Given the description of an element on the screen output the (x, y) to click on. 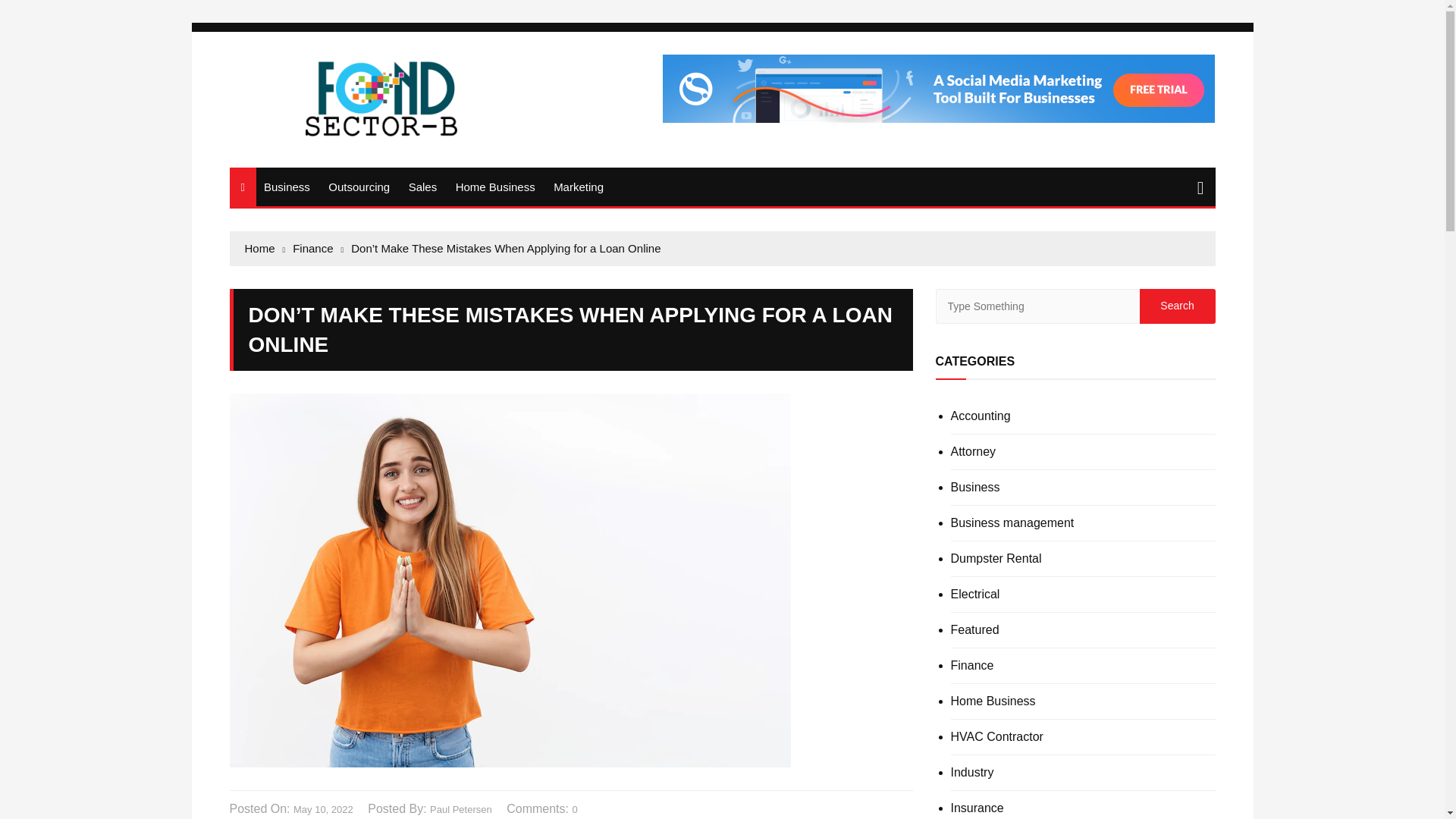
Insurance (977, 808)
Search (1176, 306)
Attorney (972, 451)
Featured (974, 630)
Industry (972, 772)
May 10, 2022 (323, 810)
Dumpster Rental (996, 558)
Business (975, 487)
Finance (972, 665)
HVAC Contractor (996, 736)
